Given the description of an element on the screen output the (x, y) to click on. 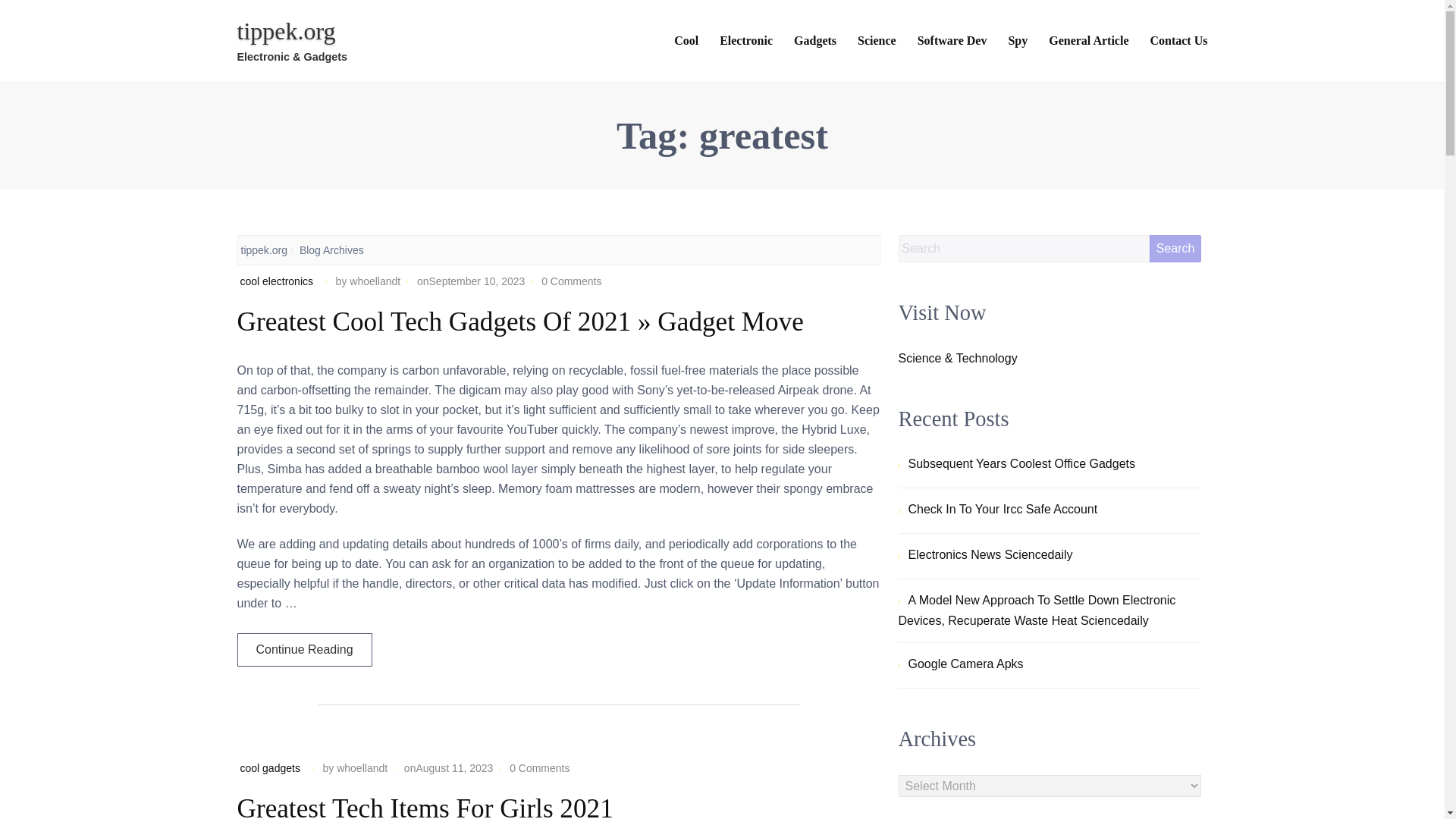
cool electronics (276, 281)
tippek.org (284, 31)
Contact Us (1178, 42)
Electronic (746, 42)
Gadgets (814, 42)
Science (876, 42)
tippek.org (263, 250)
Search (1176, 248)
Greatest Tech Items For Girls 2021 (423, 806)
Greatest Tech Items For Girls 2021 (423, 806)
Continue Reading (303, 649)
Software Dev (952, 42)
cool gadgets (269, 767)
General Article (1088, 42)
Cool (686, 42)
